Given the description of an element on the screen output the (x, y) to click on. 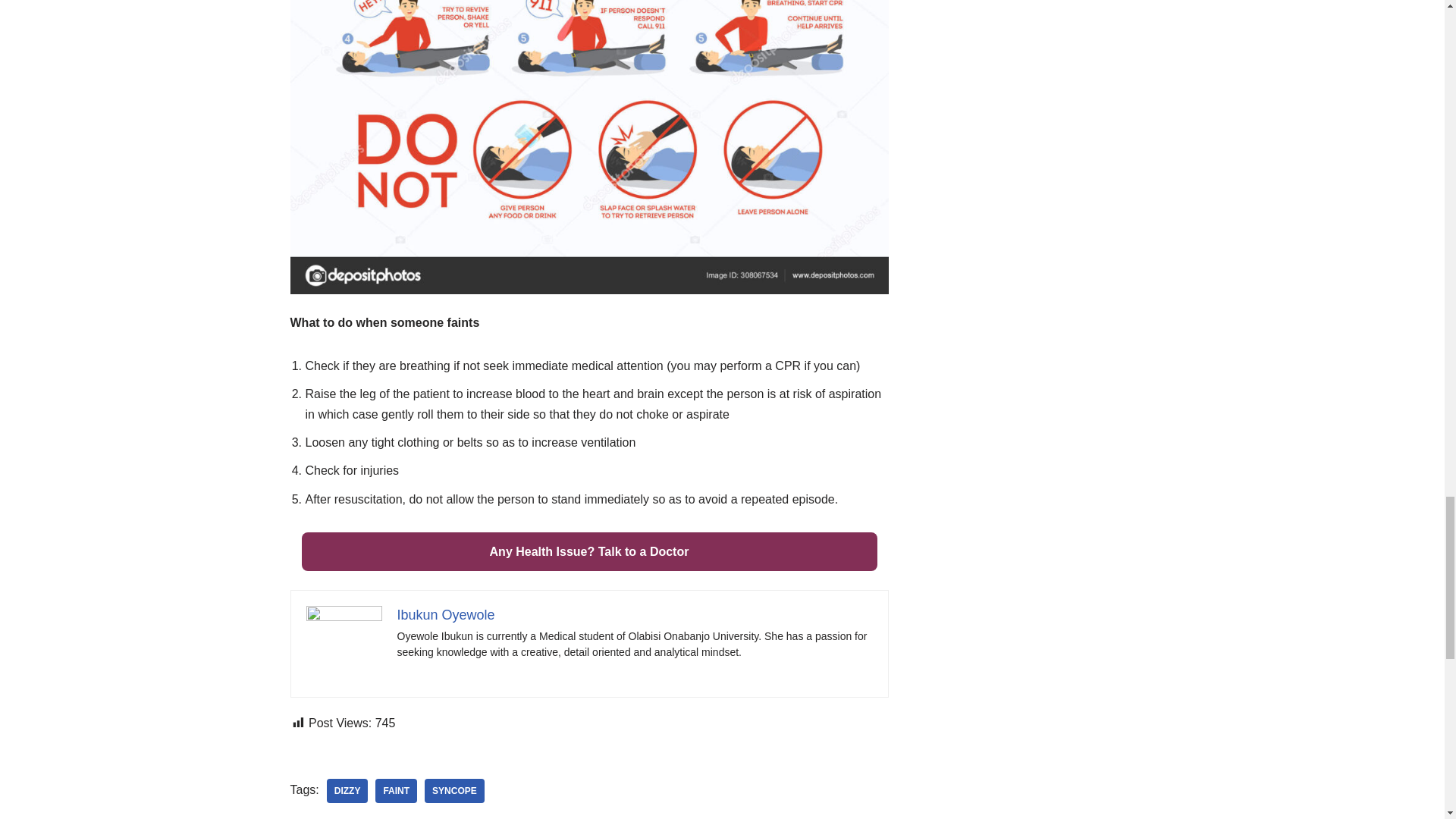
dizzy (347, 790)
faint (395, 790)
Ibukun Oyewole (446, 614)
syncope (454, 790)
Any Health Issue? Talk to a Doctor (589, 551)
